Given the description of an element on the screen output the (x, y) to click on. 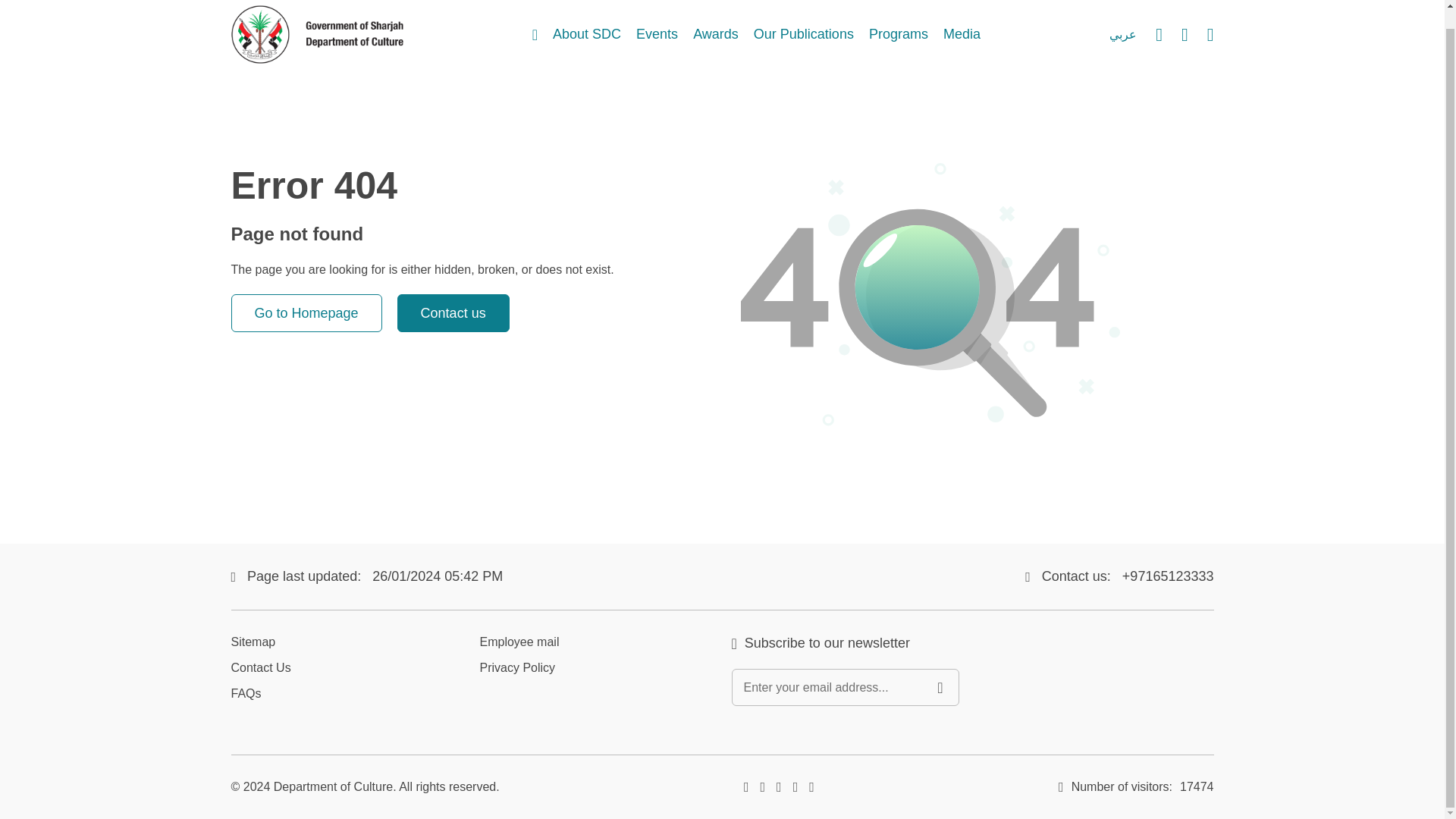
About SDC (587, 34)
Go to Homepage (305, 313)
Error 404 (930, 314)
Media (961, 34)
Contact us (453, 313)
Programs (898, 34)
Events (657, 34)
Our Publications (803, 34)
Awards (715, 34)
Click to go contact us (453, 313)
Click to go homepage (305, 313)
Sitemap (252, 641)
